Given the description of an element on the screen output the (x, y) to click on. 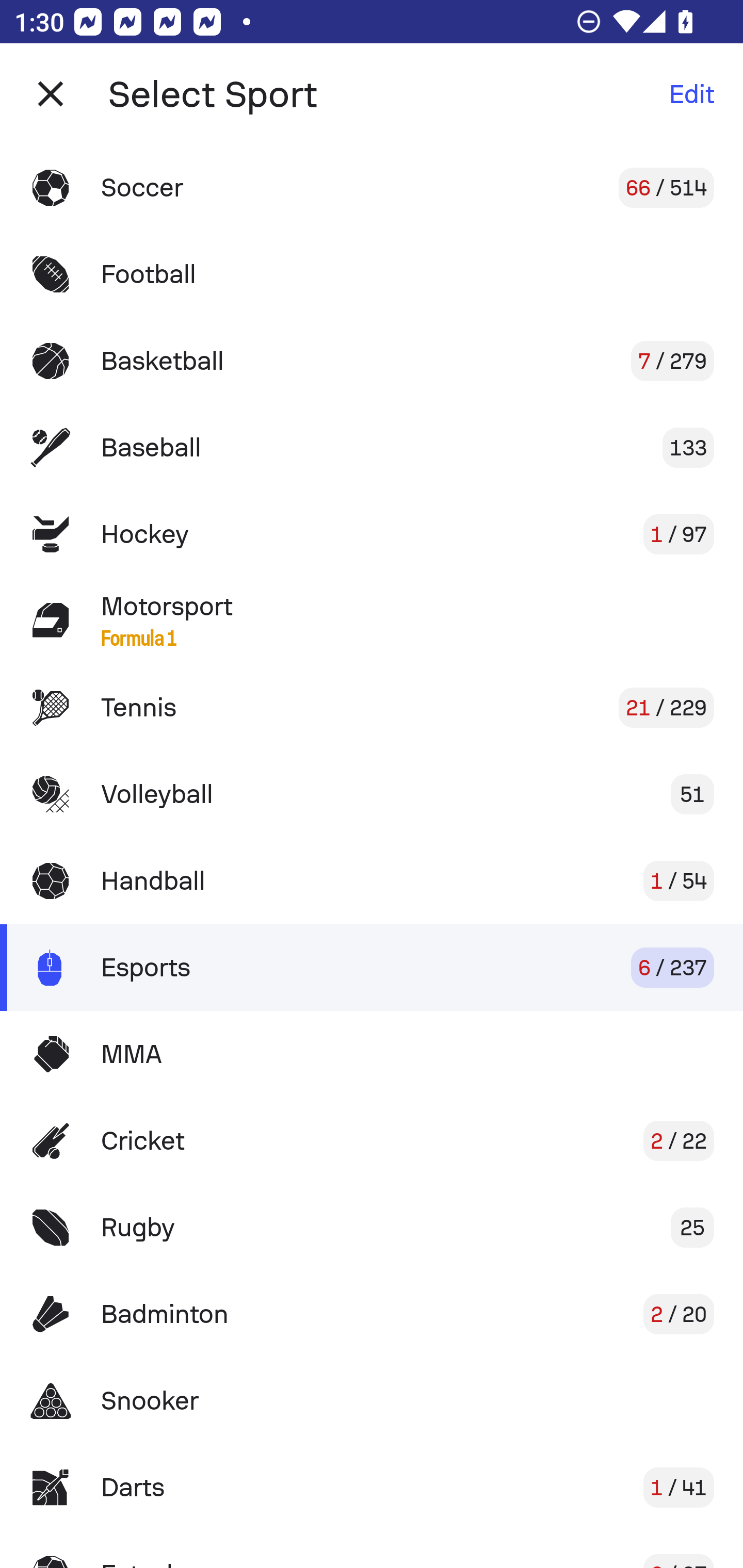
Edit (691, 93)
Soccer 66 / 514 (371, 187)
Football (371, 274)
Basketball 7 / 279 (371, 361)
Baseball 133 (371, 447)
Hockey 1 / 97 (371, 533)
Motorsport Formula 1 (371, 620)
Tennis 21 / 229 (371, 707)
Volleyball 51 (371, 794)
Handball 1 / 54 (371, 880)
Esports 6 / 237 (371, 967)
MMA (371, 1054)
Cricket 2 / 22 (371, 1140)
Rugby 25 (371, 1227)
Badminton 2 / 20 (371, 1314)
Snooker (371, 1400)
Darts 1 / 41 (371, 1487)
